Given the description of an element on the screen output the (x, y) to click on. 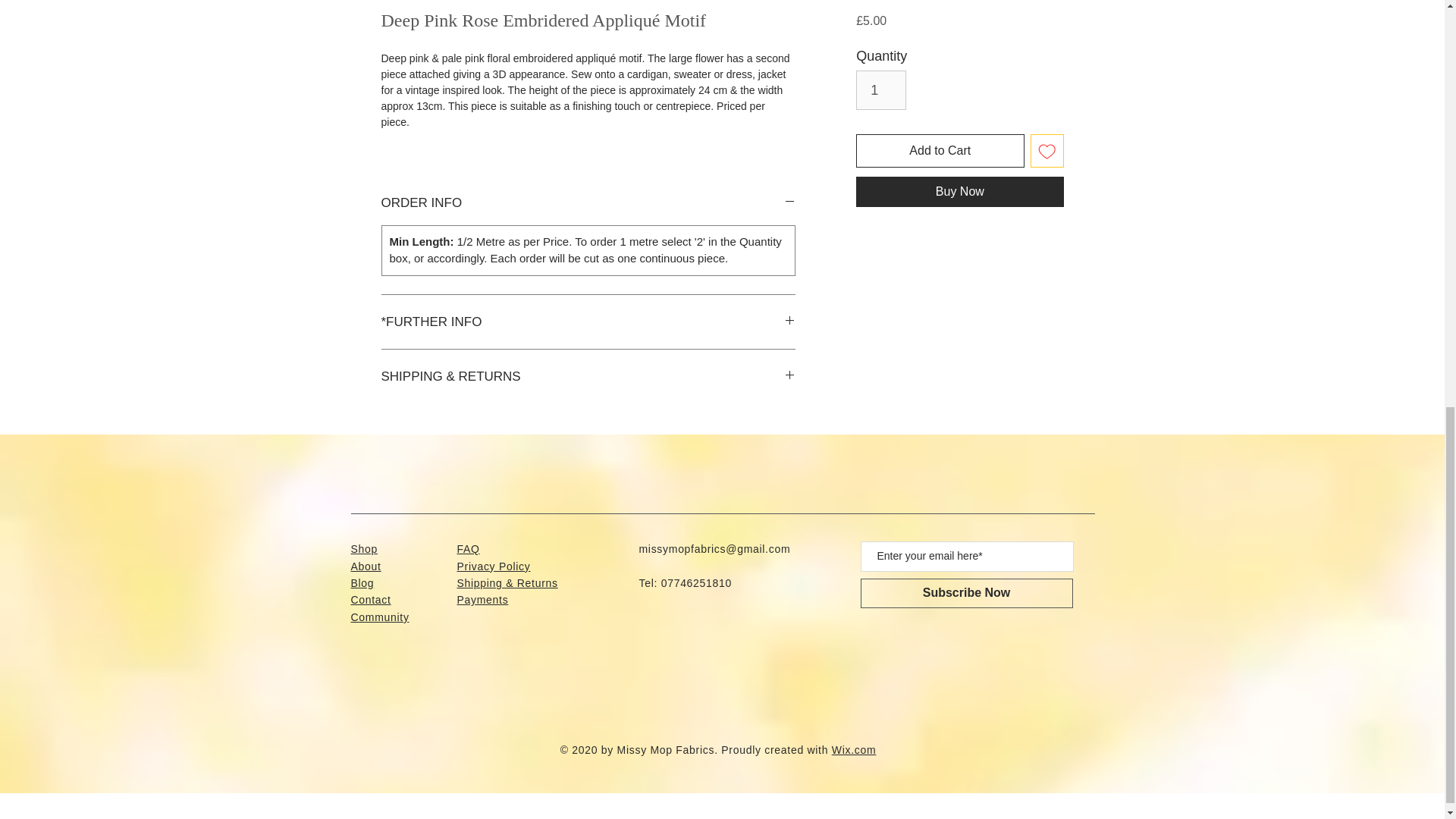
Community (379, 616)
Shop (363, 548)
ORDER INFO (587, 203)
About (365, 566)
Privacy Policy (493, 566)
1 (880, 89)
Buy Now (959, 191)
Contact (370, 599)
Add to Cart (939, 150)
FAQ (468, 548)
Blog (362, 582)
